Given the description of an element on the screen output the (x, y) to click on. 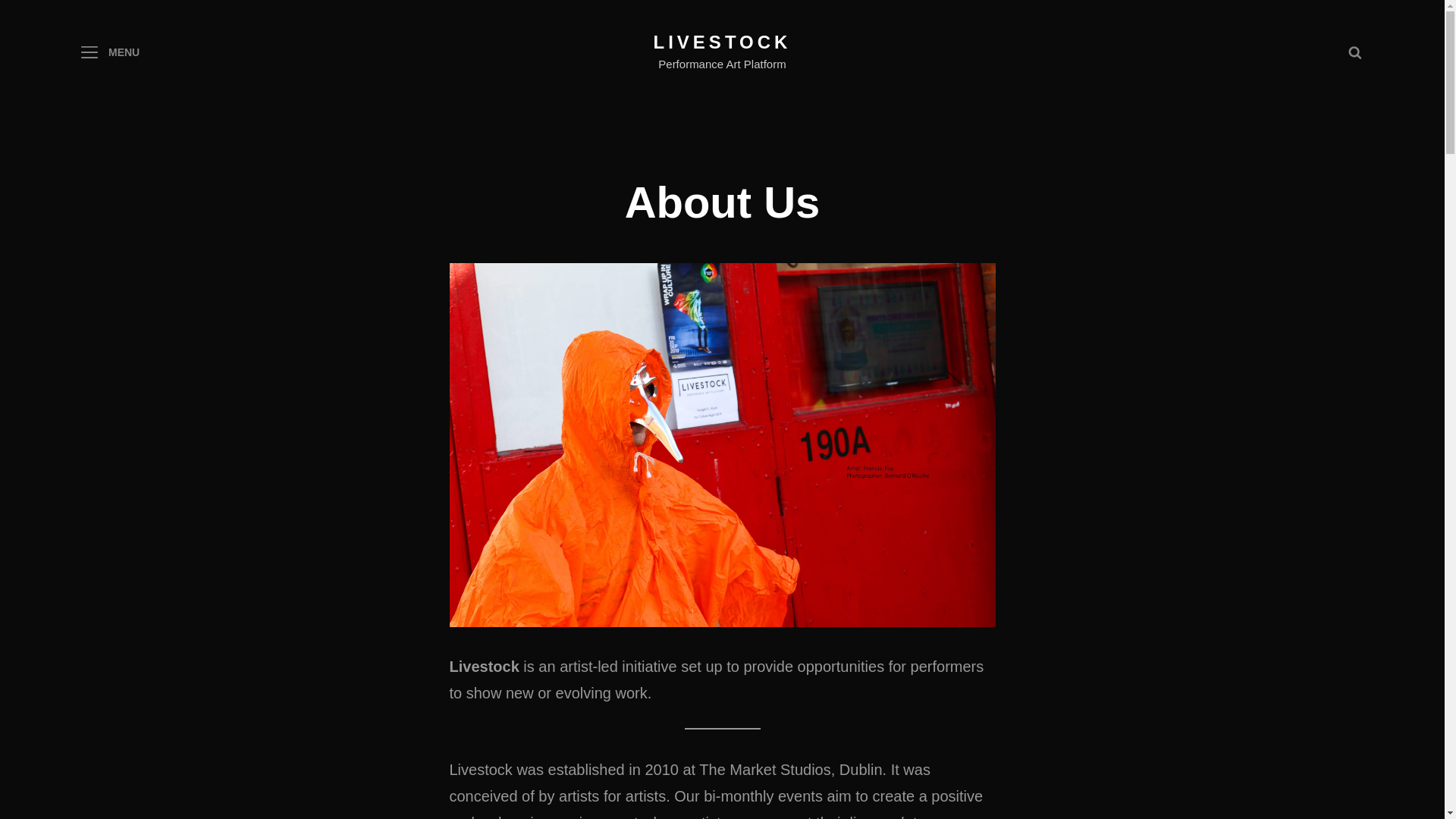
LIVESTOCK (722, 41)
MENU (109, 52)
Search (1354, 52)
